Given the description of an element on the screen output the (x, y) to click on. 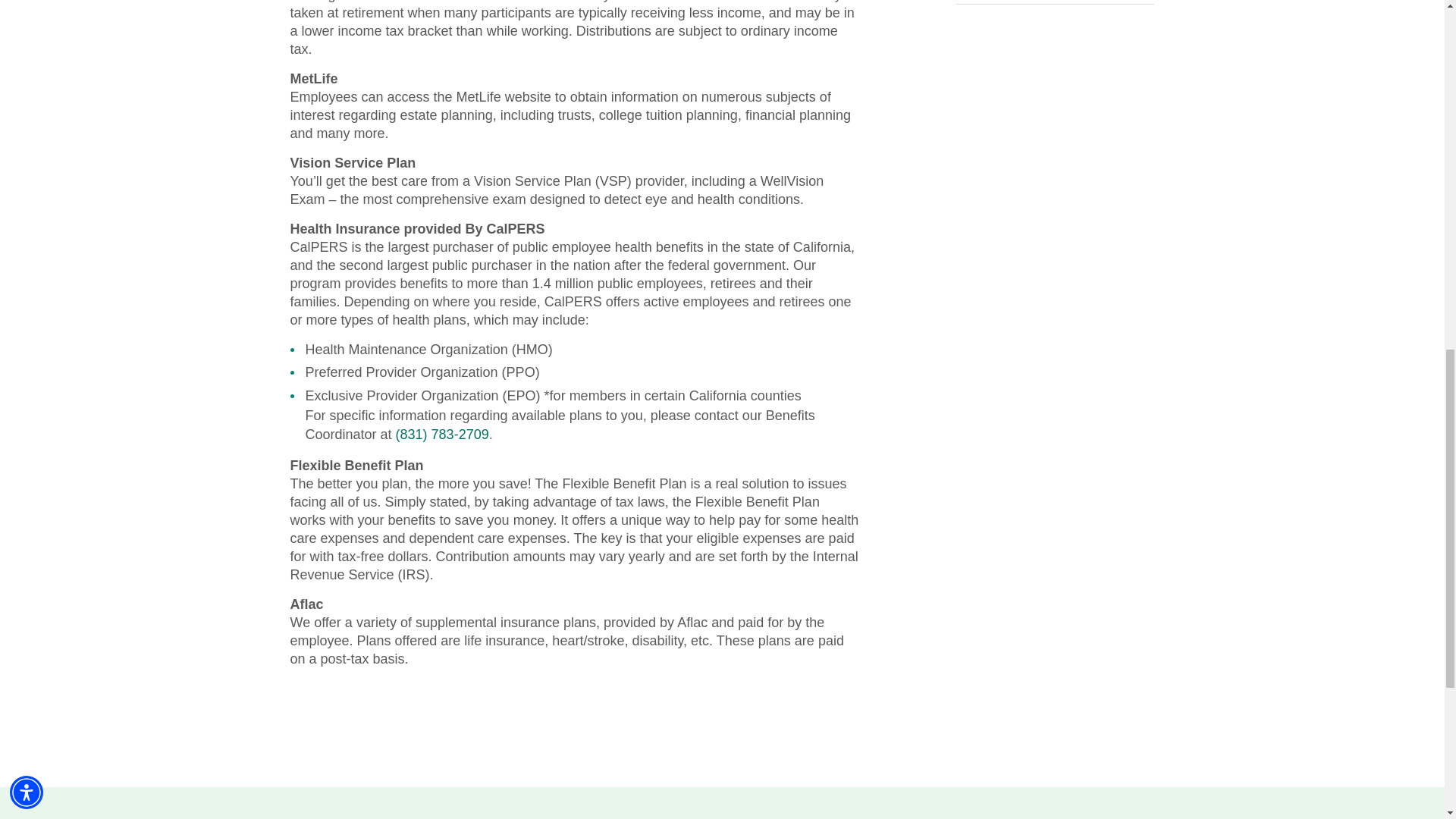
Living Here (1054, 2)
